Given the description of an element on the screen output the (x, y) to click on. 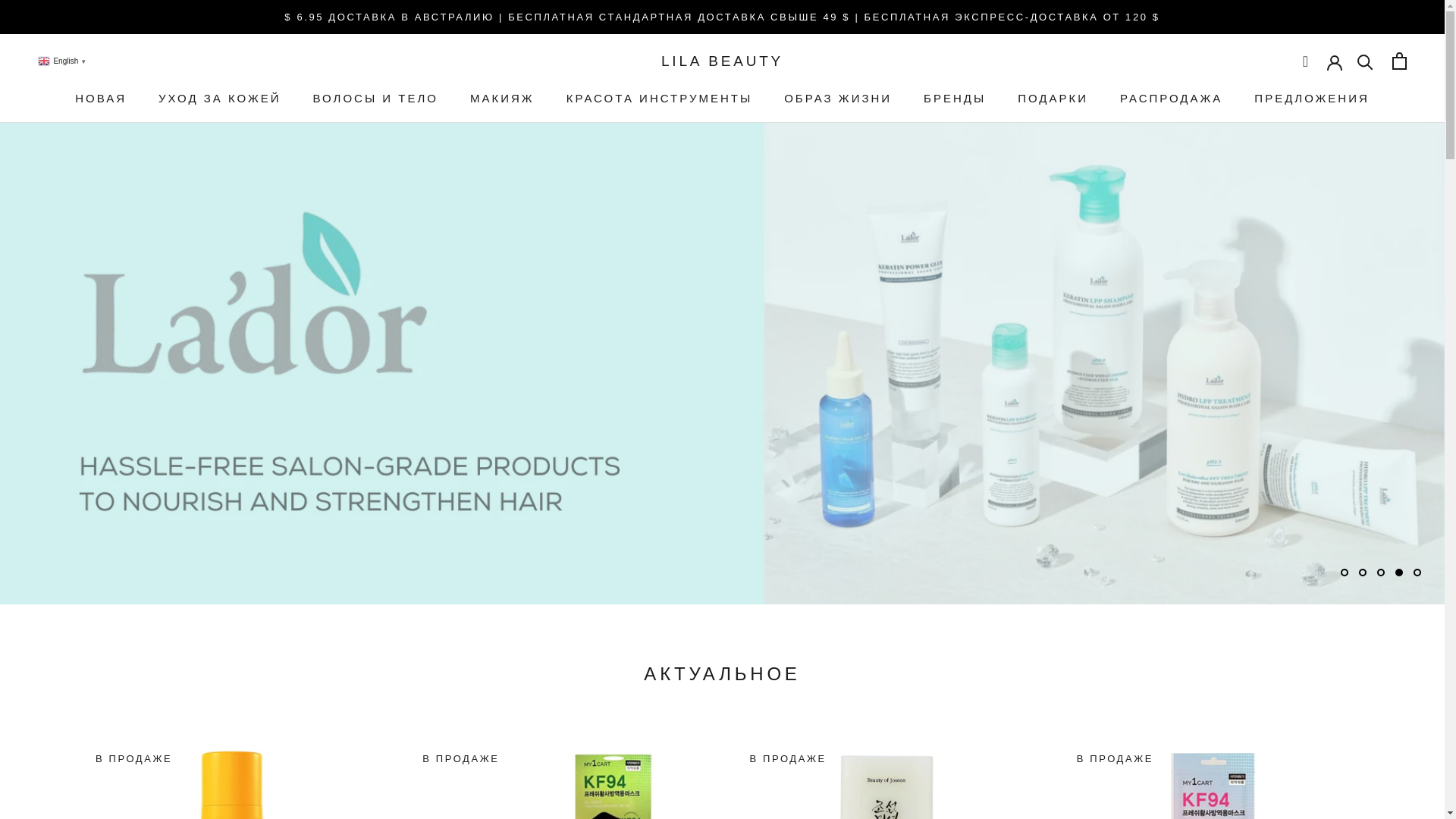
LILA BEAUTY Element type: text (722, 60)
